Given the description of an element on the screen output the (x, y) to click on. 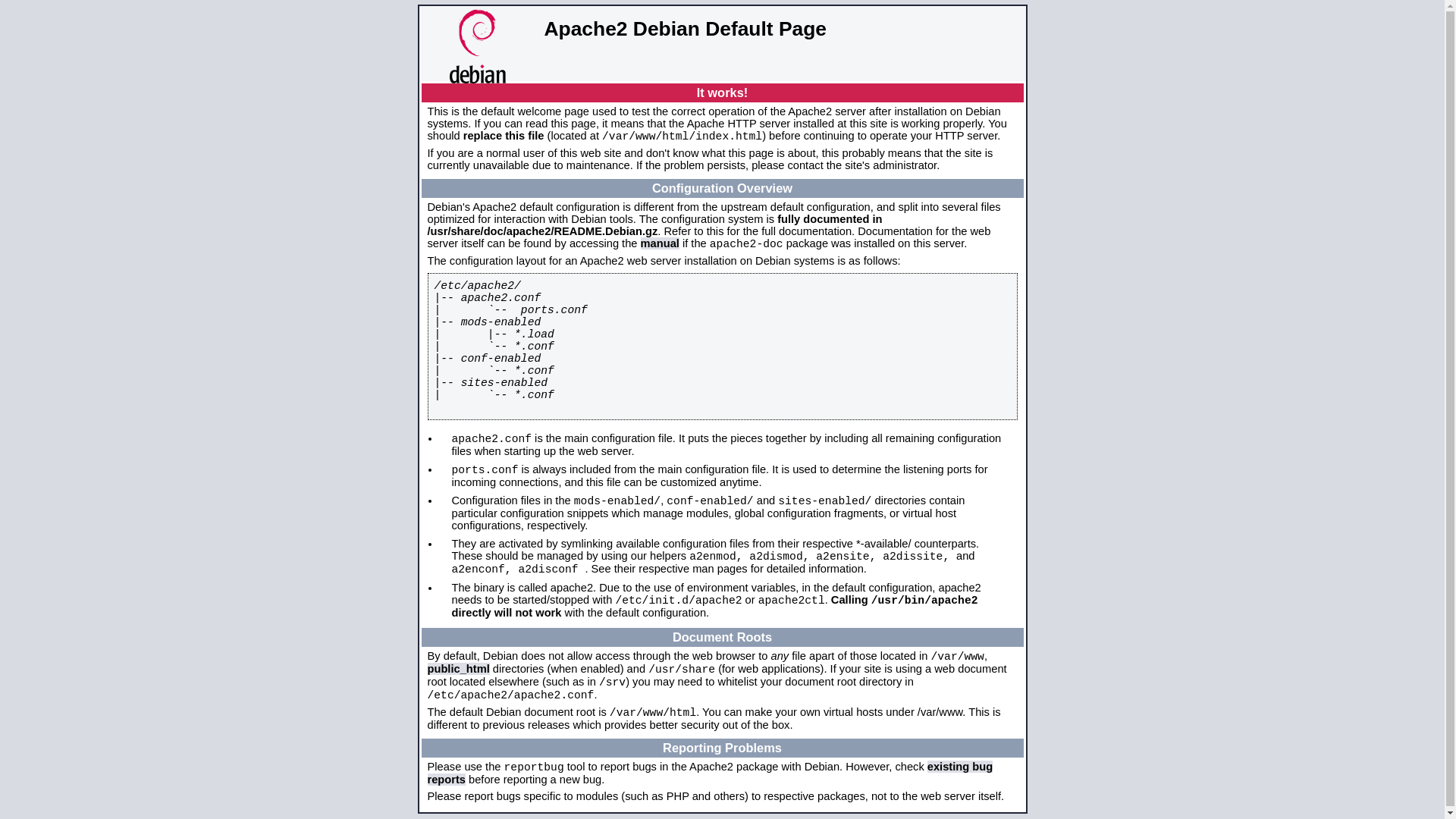
public_html Element type: text (458, 668)
existing bug reports Element type: text (710, 772)
manual Element type: text (659, 243)
